Given the description of an element on the screen output the (x, y) to click on. 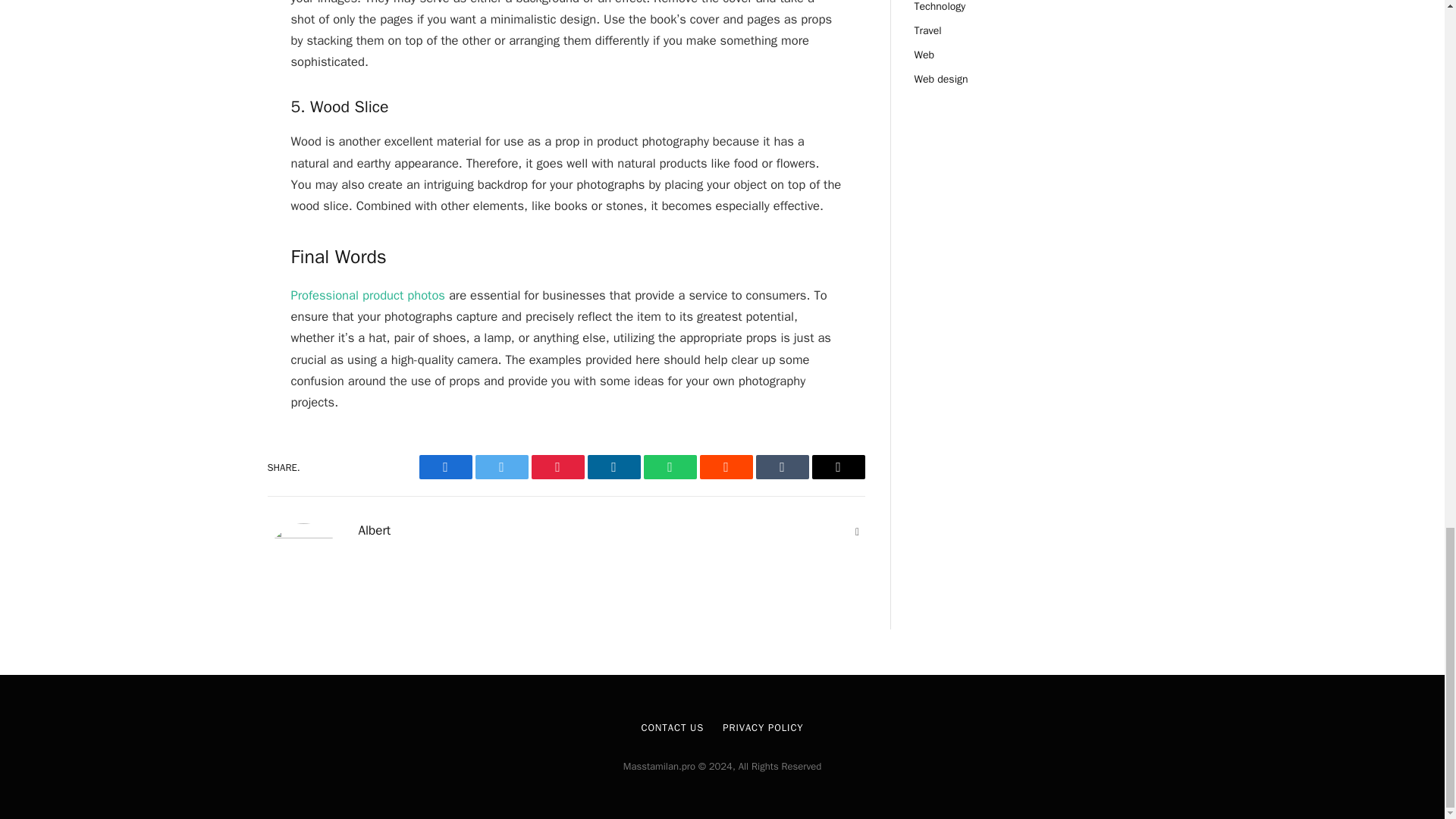
Email (837, 467)
Pinterest (557, 467)
WhatsApp (669, 467)
Share on Pinterest (557, 467)
LinkedIn (613, 467)
Facebook (445, 467)
Share on Facebook (445, 467)
Reddit (725, 467)
Twitter (500, 467)
Professional product photos (368, 295)
Website (856, 531)
Tumblr (781, 467)
Share on LinkedIn (613, 467)
Albert (374, 530)
